Given the description of an element on the screen output the (x, y) to click on. 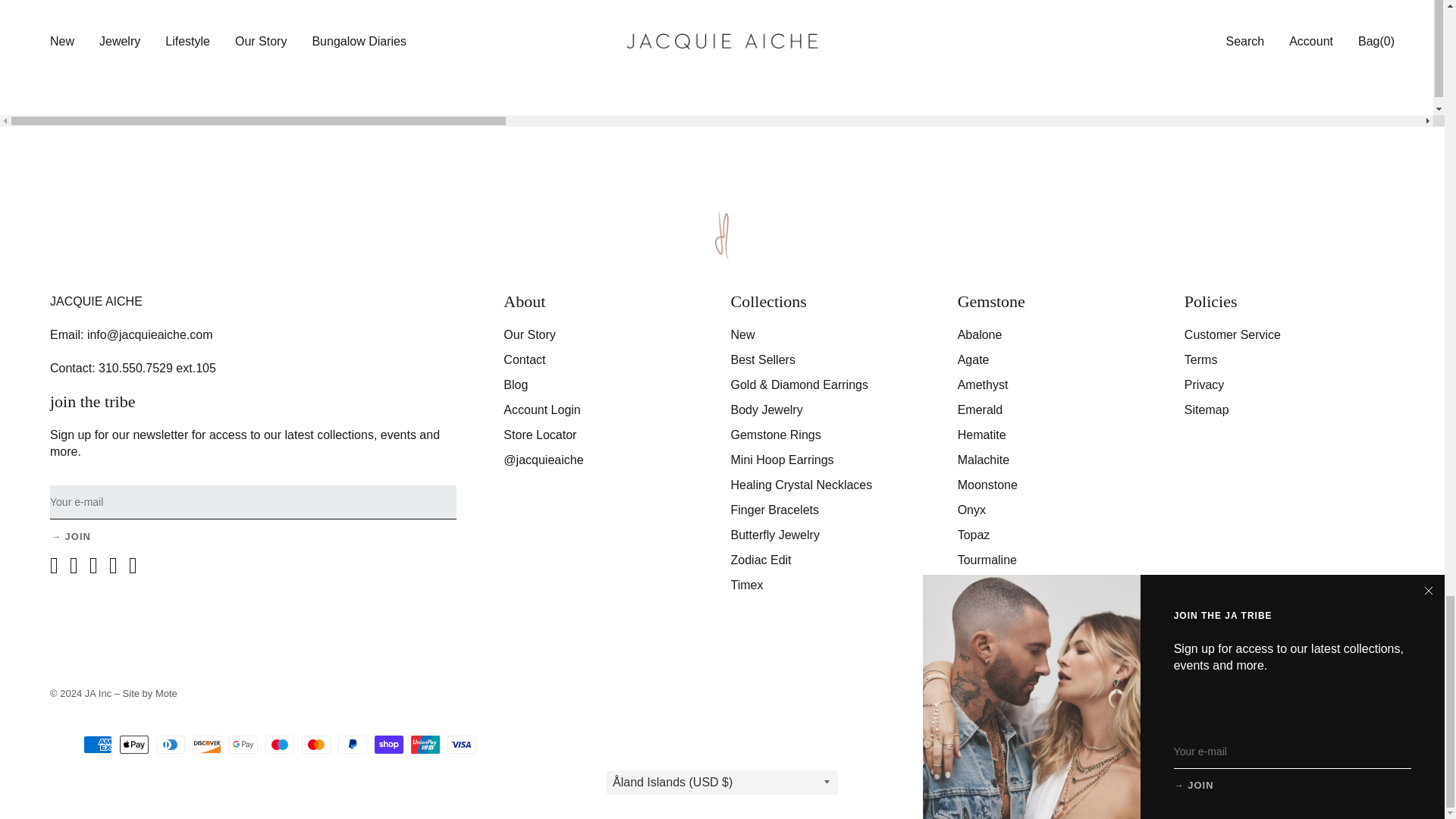
Visa (461, 744)
Maestro (279, 744)
Shop Pay (388, 744)
Mastercard (315, 744)
Diners Club (169, 744)
Union Pay (424, 744)
American Express (97, 744)
Apple Pay (133, 744)
Email (253, 502)
PayPal (351, 744)
Google Pay (242, 744)
Discover (206, 744)
